Given the description of an element on the screen output the (x, y) to click on. 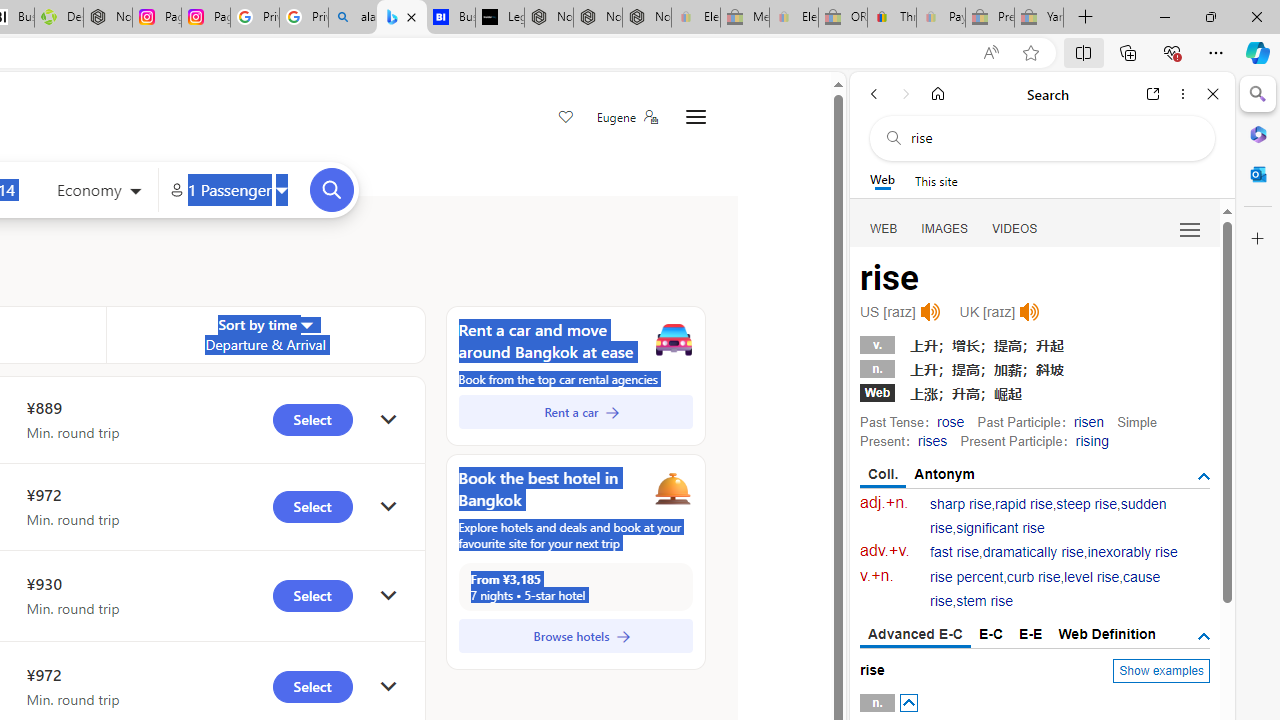
rising (1091, 440)
IMAGES (944, 228)
AutomationID: posbtn_0 (908, 703)
Yard, Garden & Outdoor Living - Sleeping (1039, 17)
steep rise (1086, 503)
Search Filter, IMAGES (944, 228)
